Given the description of an element on the screen output the (x, y) to click on. 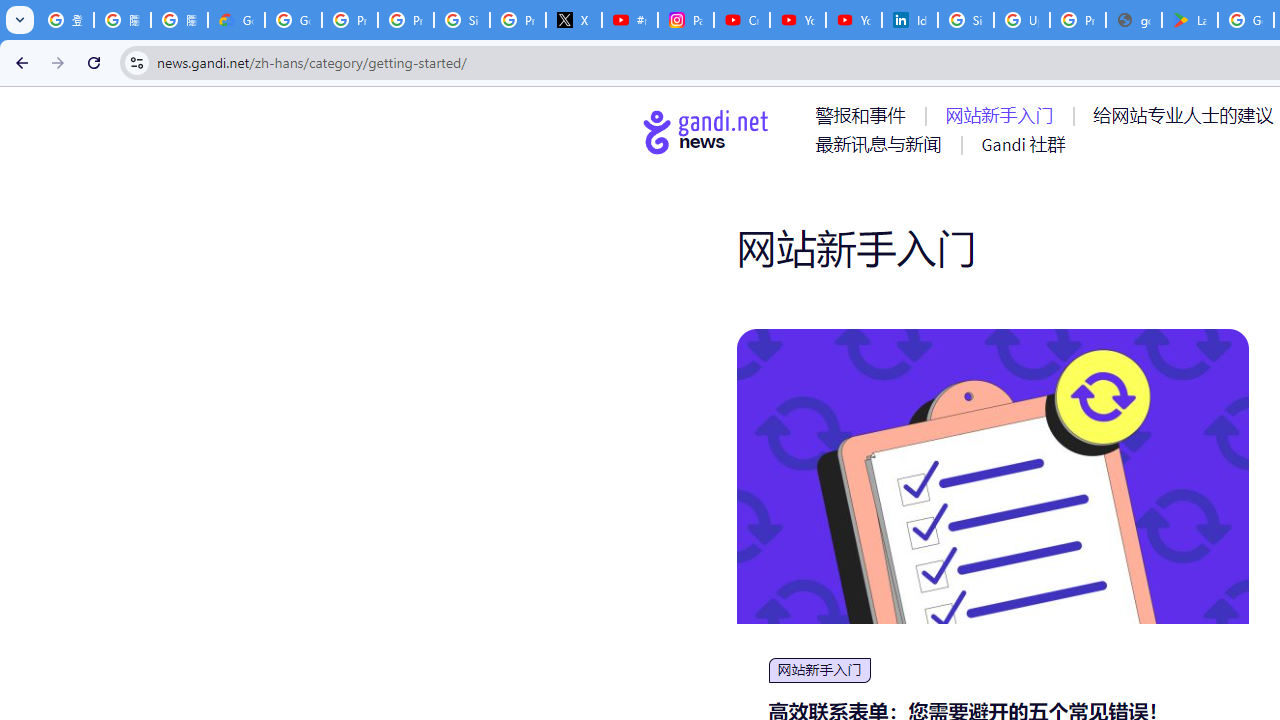
Privacy Help Center - Policies Help (349, 20)
AutomationID: menu-item-77762 (1003, 115)
AutomationID: menu-item-77761 (863, 115)
